Given the description of an element on the screen output the (x, y) to click on. 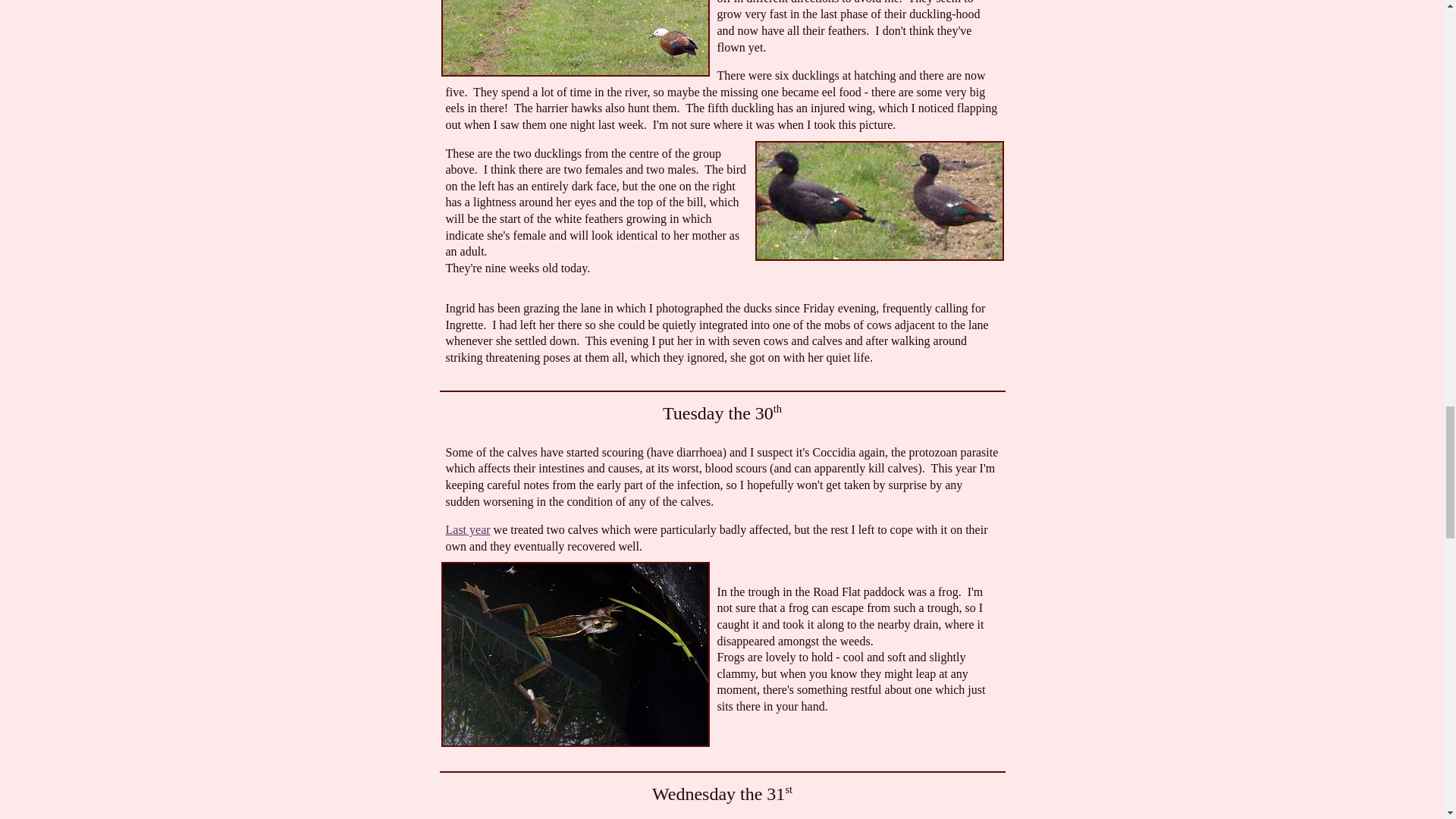
Last year (467, 529)
Putangitangi (575, 38)
Putangitangi (879, 200)
a frog in a trough (575, 653)
